Given the description of an element on the screen output the (x, y) to click on. 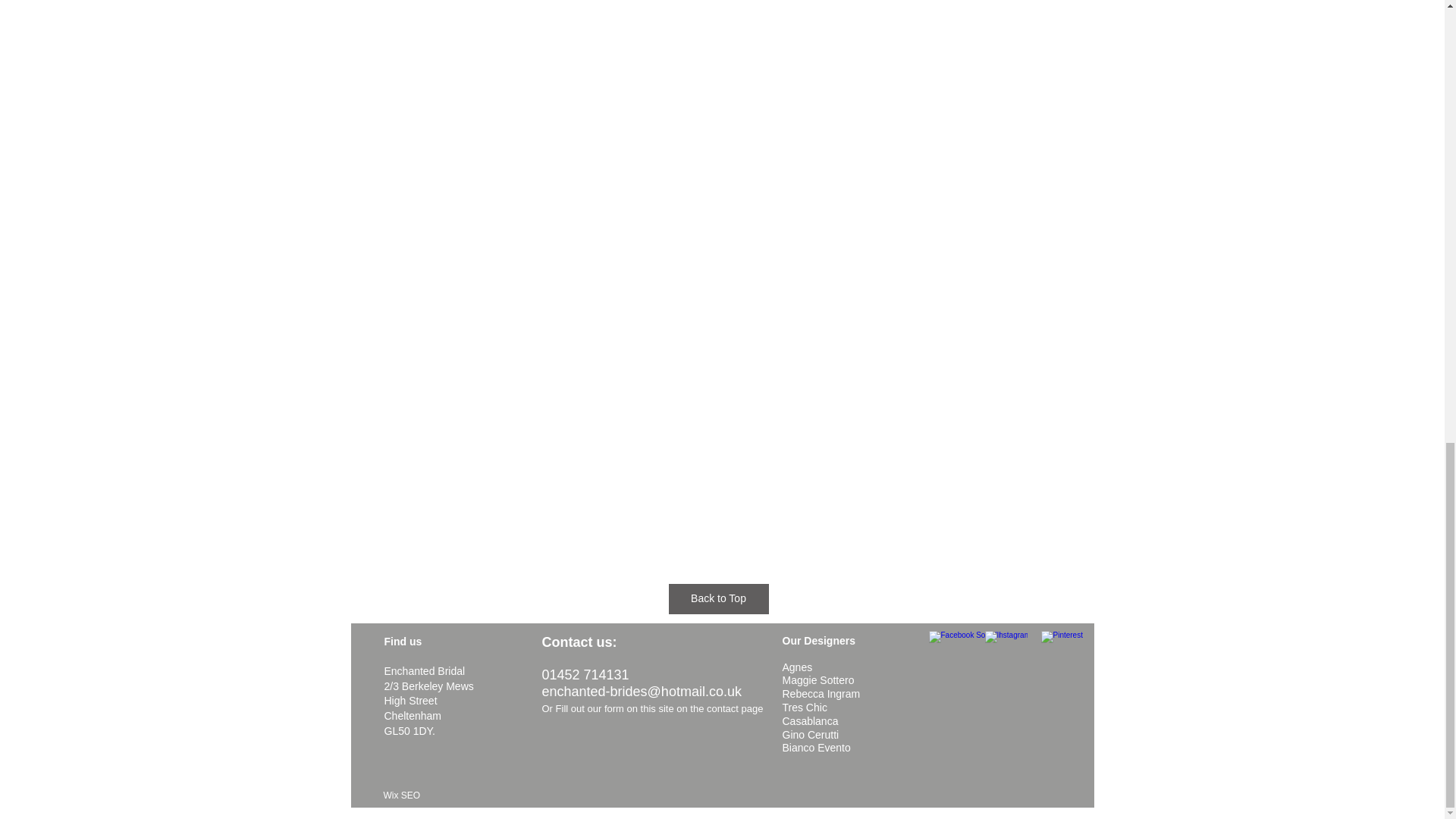
es (806, 666)
form (614, 708)
Back to Top (718, 598)
Wix SEO (402, 795)
